Given the description of an element on the screen output the (x, y) to click on. 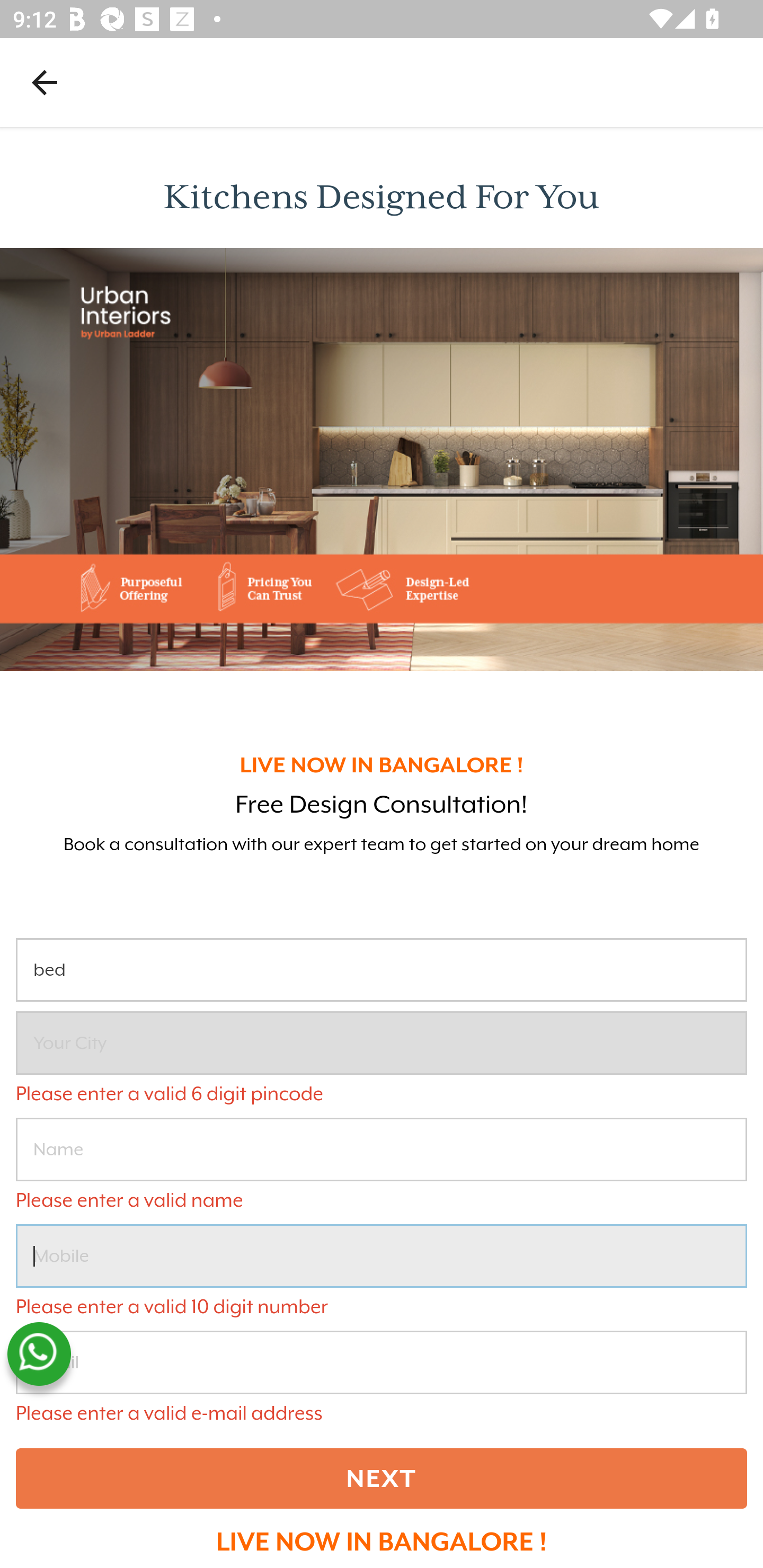
Navigate up (44, 82)
bed Next LIVE NOW IN BANGALORE ! (381, 1246)
bed (381, 970)
whatsapp (38, 1353)
Next (381, 1478)
